Given the description of an element on the screen output the (x, y) to click on. 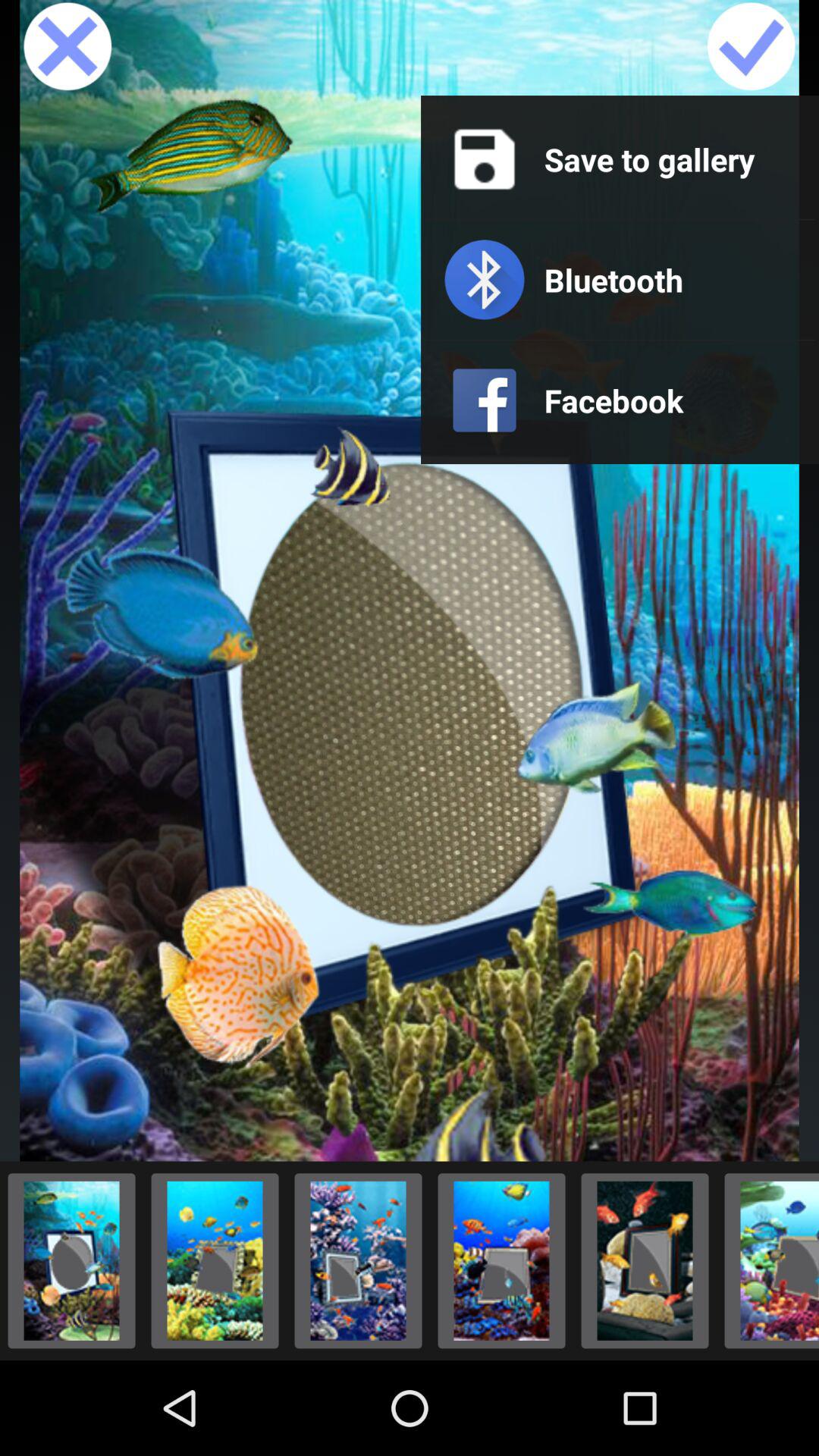
select image (214, 1260)
